Given the description of an element on the screen output the (x, y) to click on. 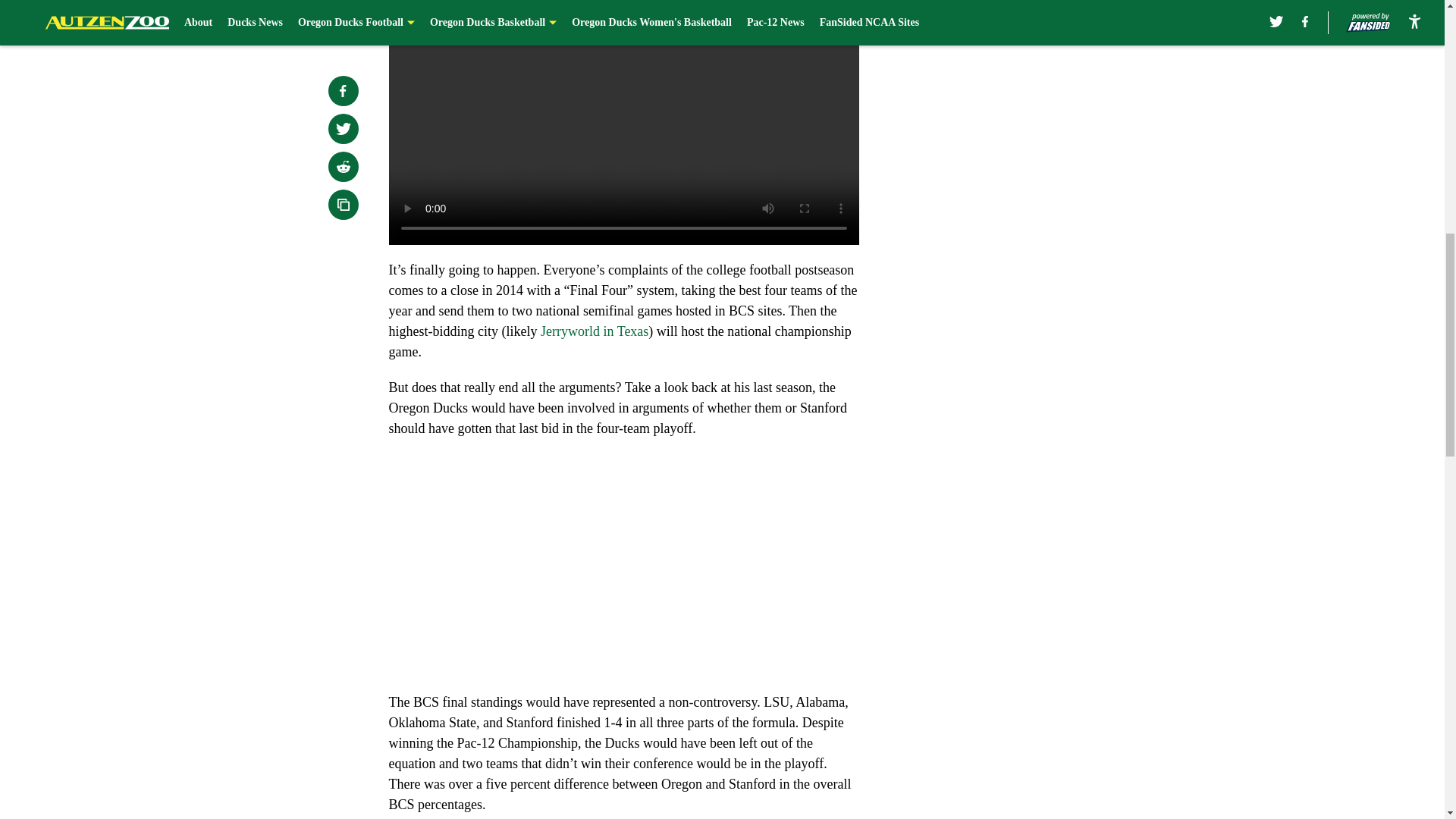
Jerryworld in Texas (593, 331)
3rd party ad content (1047, 294)
3rd party ad content (1047, 84)
